Given the description of an element on the screen output the (x, y) to click on. 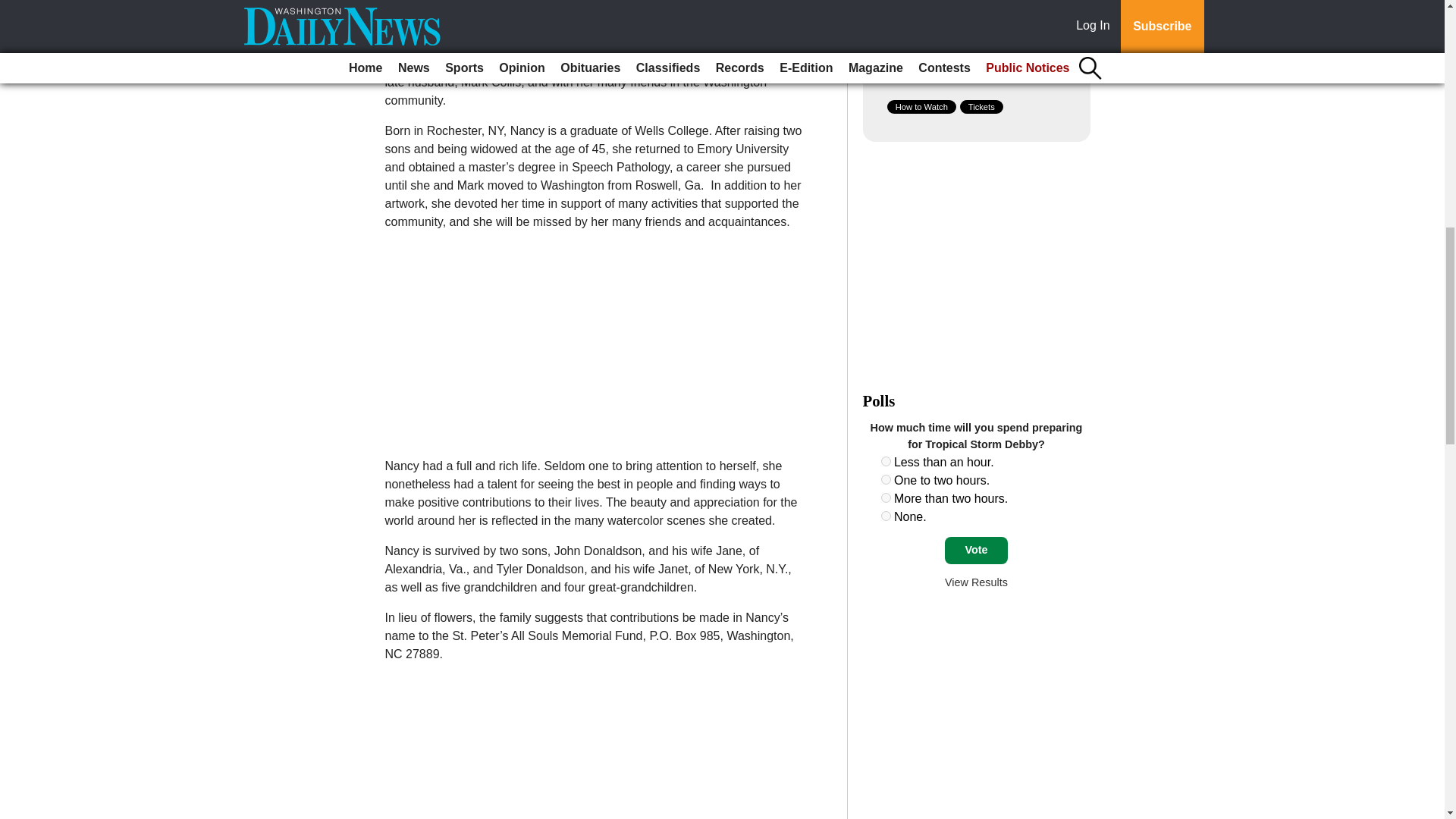
View Results (975, 582)
   Vote    (975, 550)
Tickets (981, 106)
View Results Of This Poll (975, 582)
How to Watch (921, 106)
4380 (885, 497)
4378 (885, 461)
Colorado 2024 Football Schedule, Record, Results (966, 6)
4379 (885, 479)
4381 (885, 515)
